Given the description of an element on the screen output the (x, y) to click on. 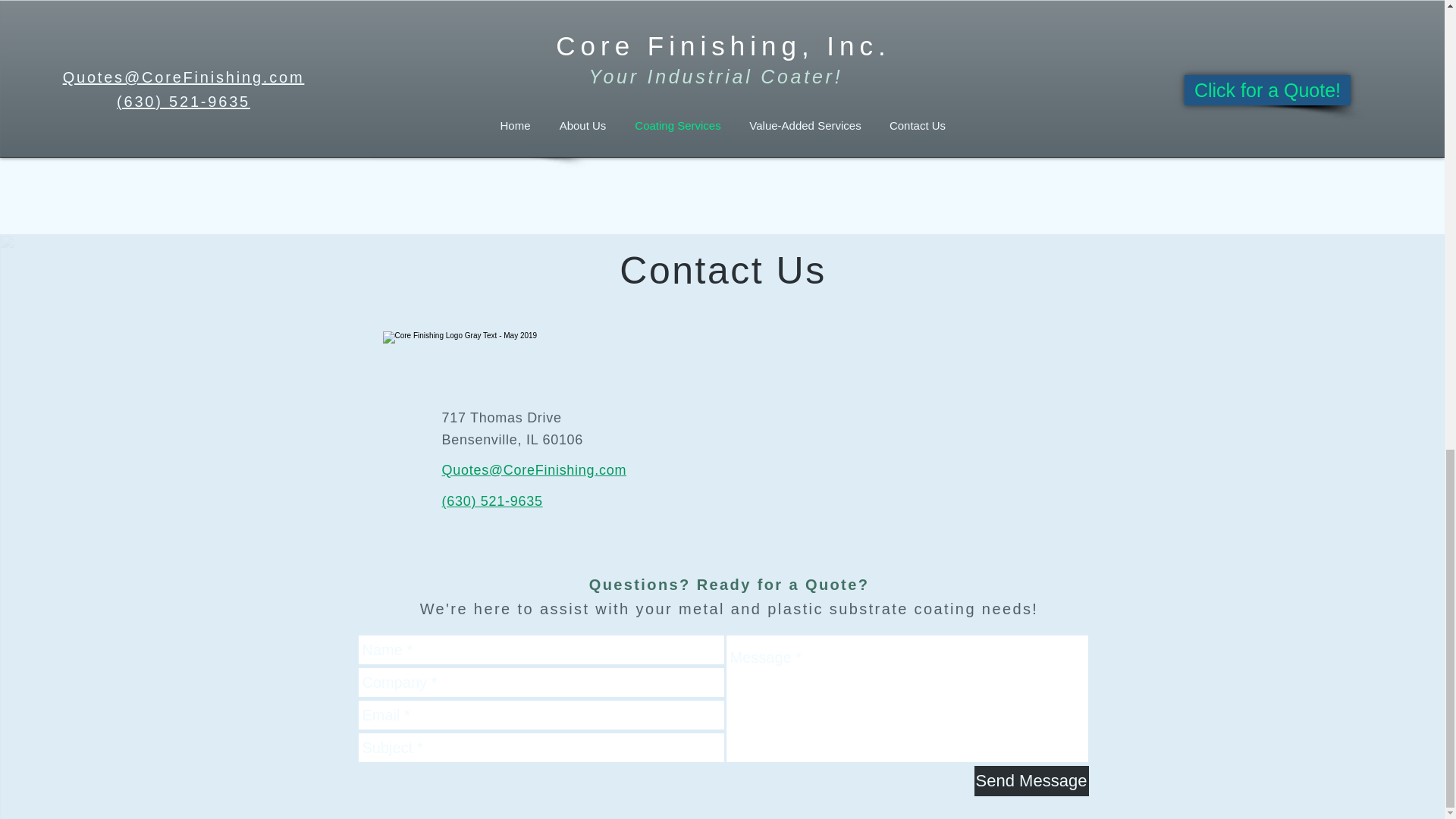
Click for a Quote! (473, 136)
Send Message (1030, 780)
assembly (611, 58)
